Given the description of an element on the screen output the (x, y) to click on. 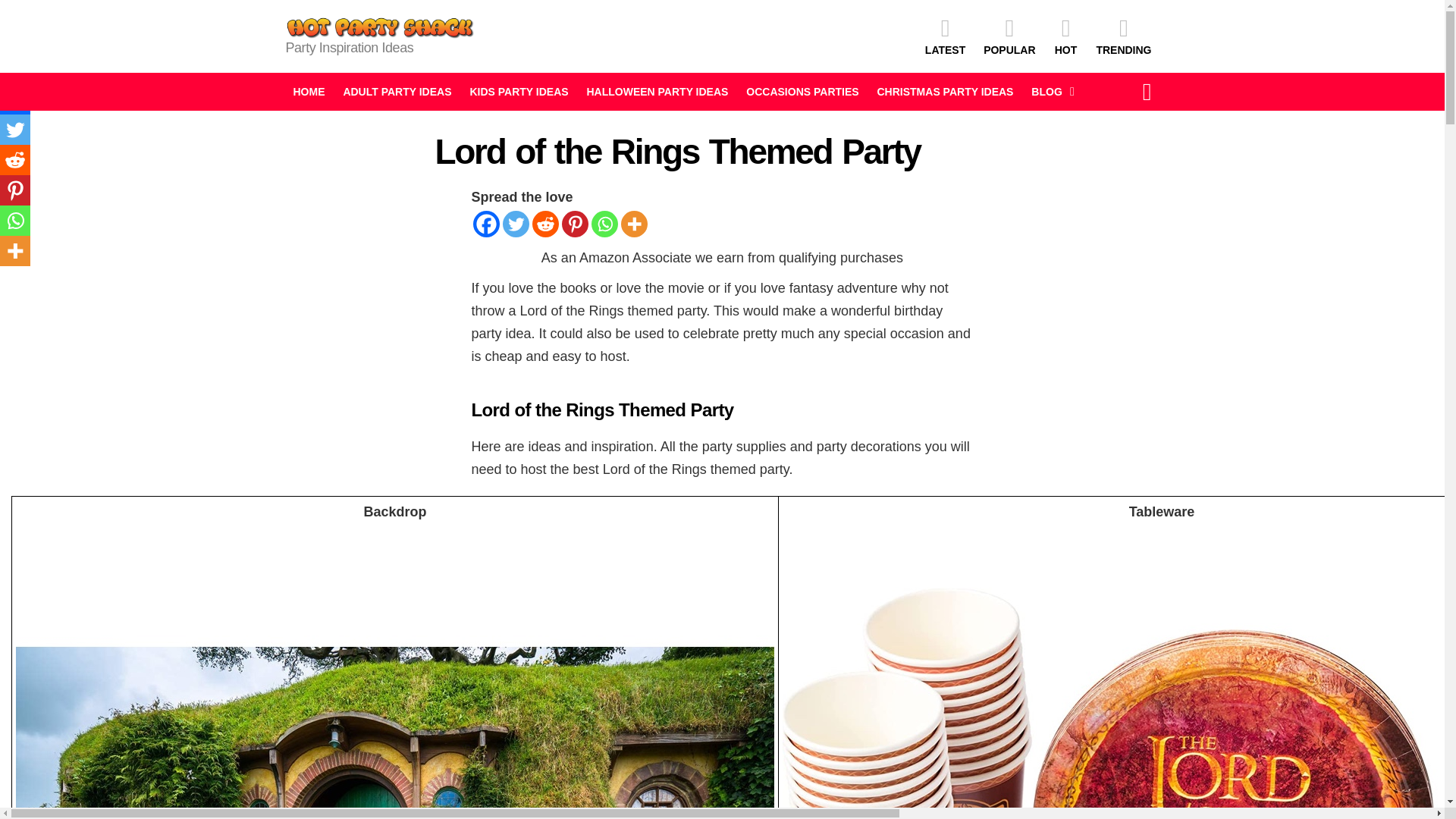
HALLOWEEN PARTY IDEAS (656, 91)
CHRISTMAS PARTY IDEAS (944, 91)
Pinterest (15, 190)
More (633, 223)
KIDS PARTY IDEAS (518, 91)
HOT (1064, 35)
OCCASIONS PARTIES (802, 91)
More (15, 250)
Facebook (15, 99)
BLOG (1048, 91)
Whatsapp (15, 220)
POPULAR (1008, 35)
Reddit (15, 159)
Twitter (515, 223)
LATEST (944, 35)
